Given the description of an element on the screen output the (x, y) to click on. 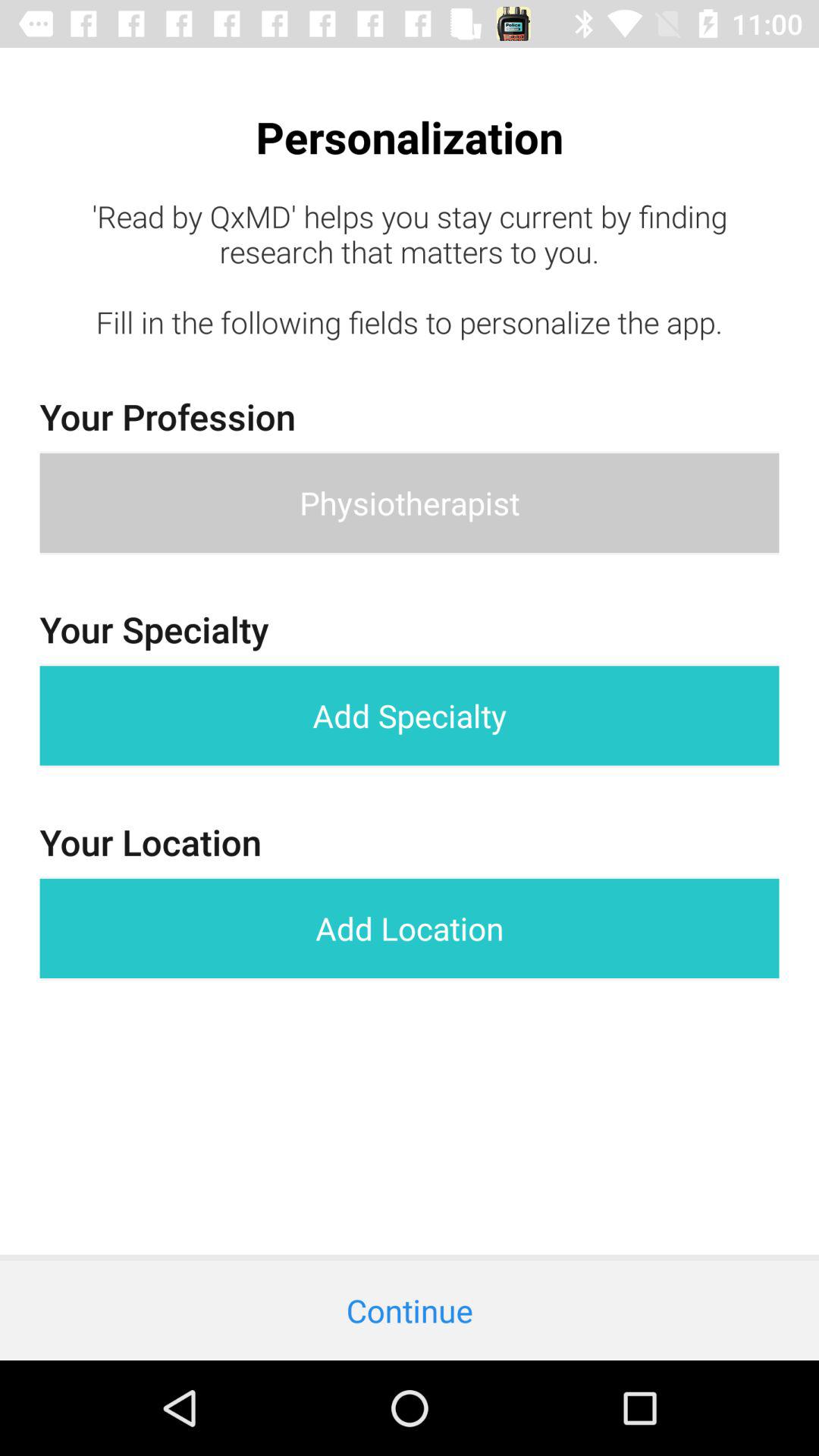
open continue (409, 1310)
